Given the description of an element on the screen output the (x, y) to click on. 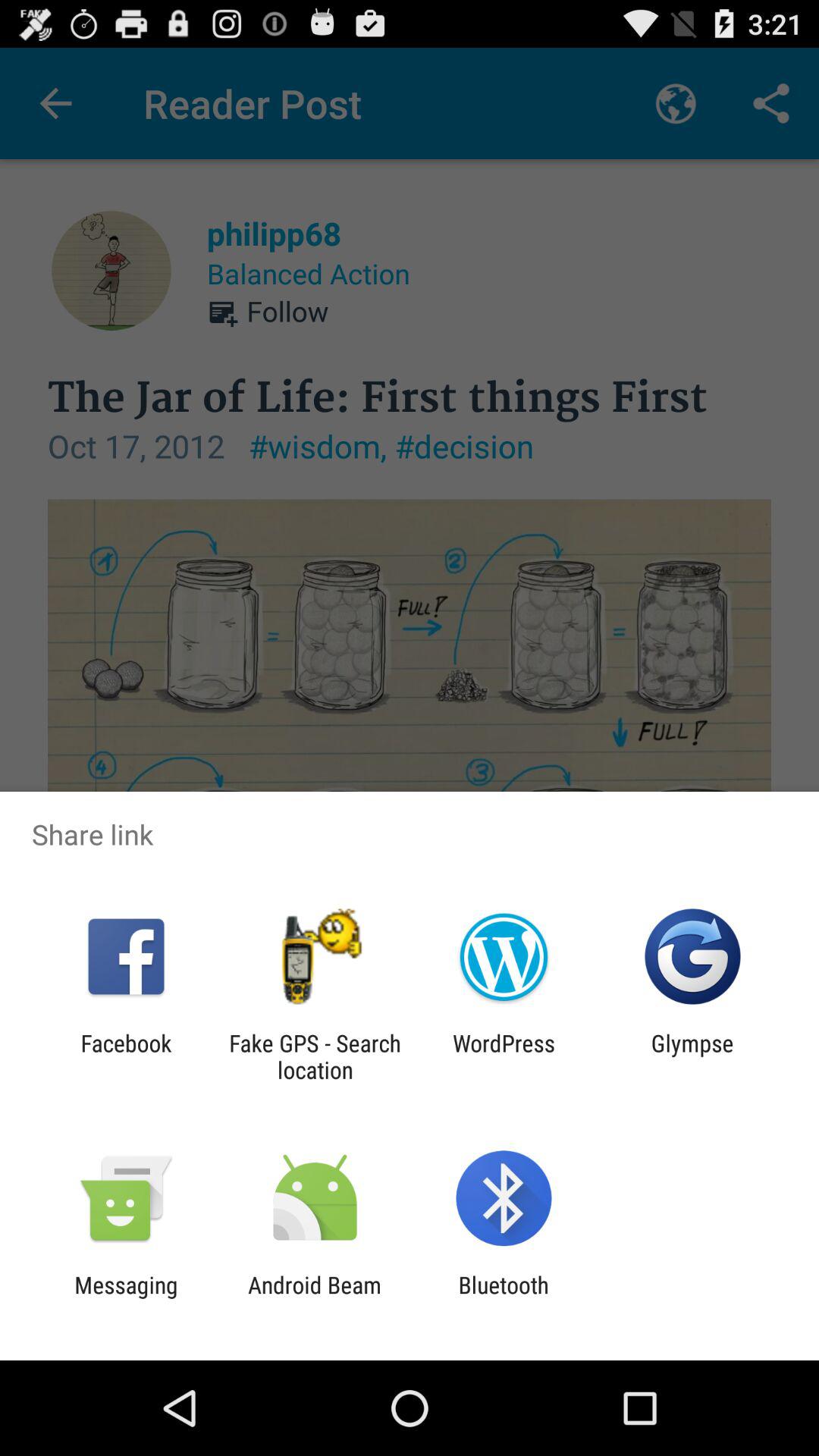
turn off the app to the left of wordpress item (314, 1056)
